Given the description of an element on the screen output the (x, y) to click on. 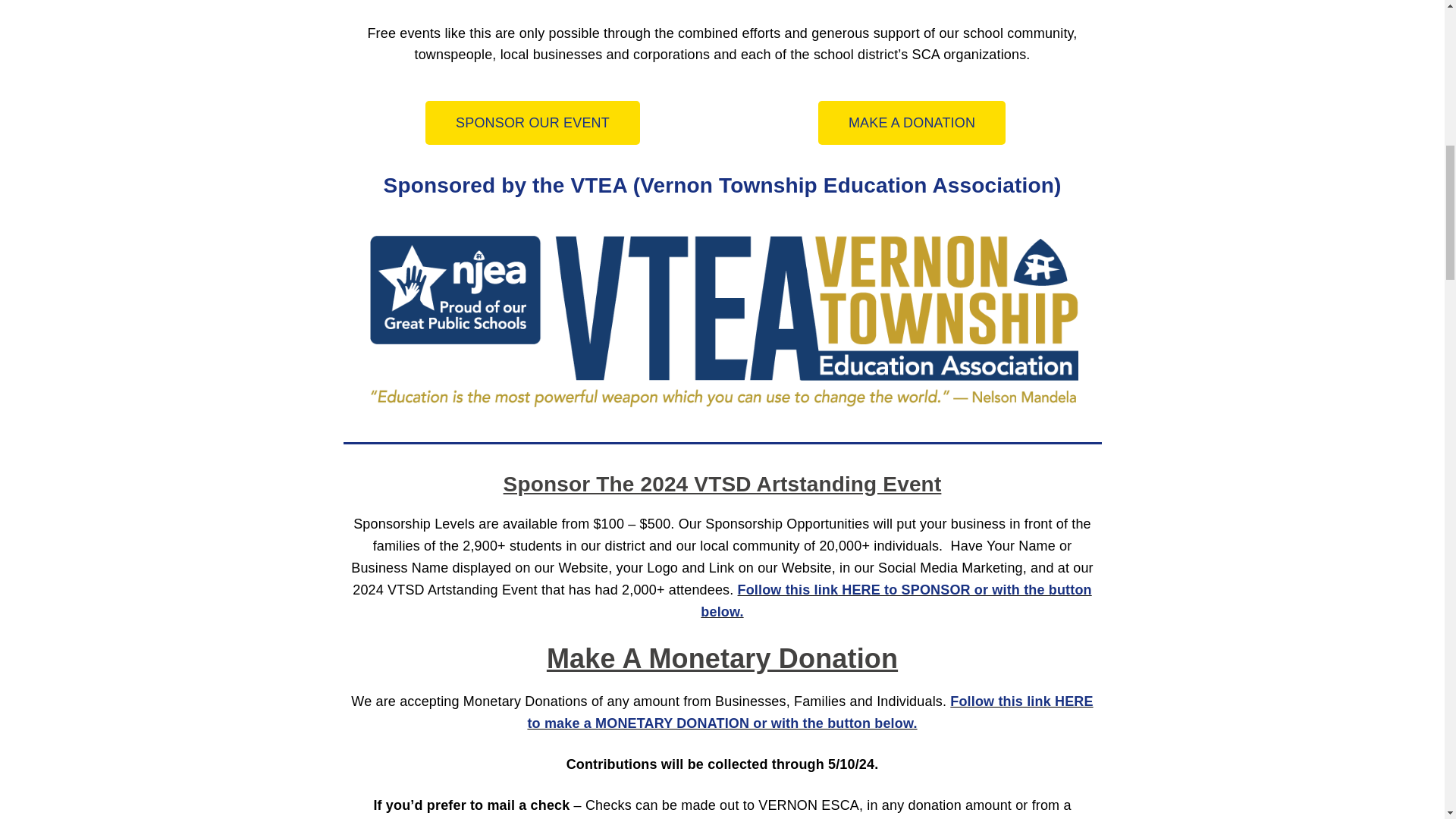
Follow this link HERE to SPONSOR or with the button below. (895, 600)
SPONSOR OUR EVENT (532, 122)
MAKE A DONATION (912, 122)
